Given the description of an element on the screen output the (x, y) to click on. 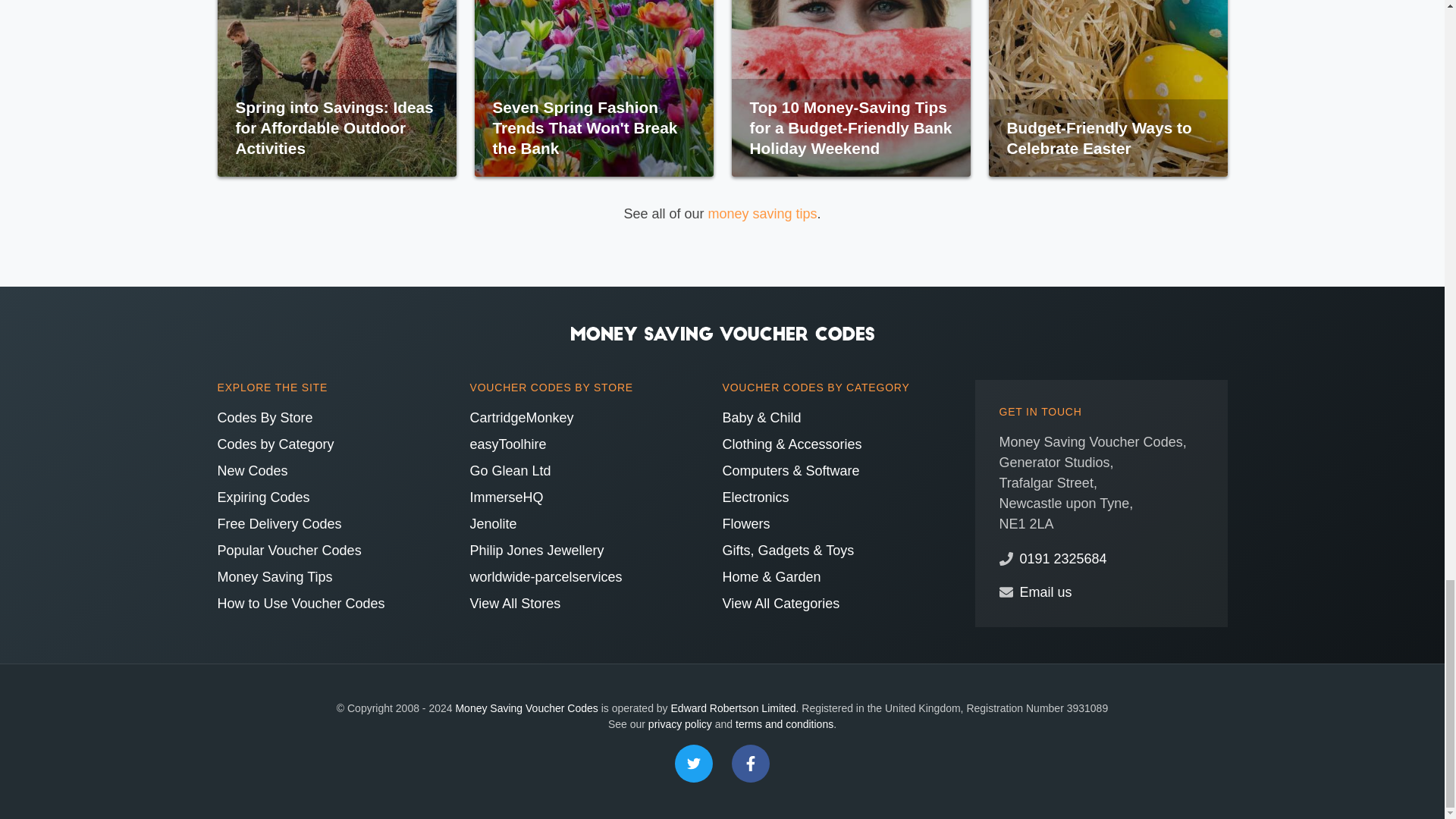
Visit our Homepage (721, 332)
Visit our Twitter (694, 763)
Visit our Facebook (751, 763)
